Given the description of an element on the screen output the (x, y) to click on. 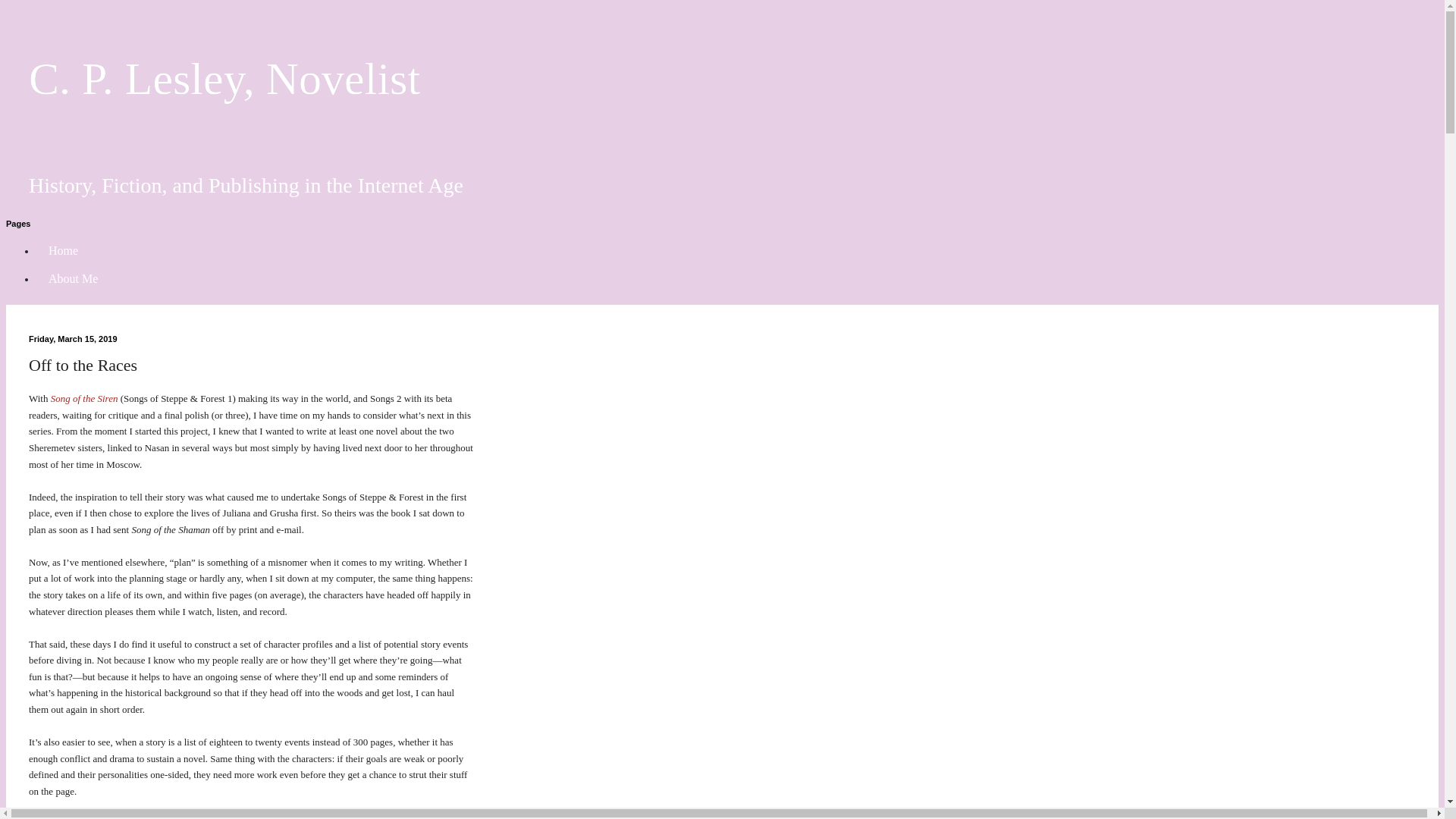
Home (63, 250)
C. P. Lesley, Novelist (224, 79)
Song of the Siren (83, 398)
About Me (73, 279)
